Given the description of an element on the screen output the (x, y) to click on. 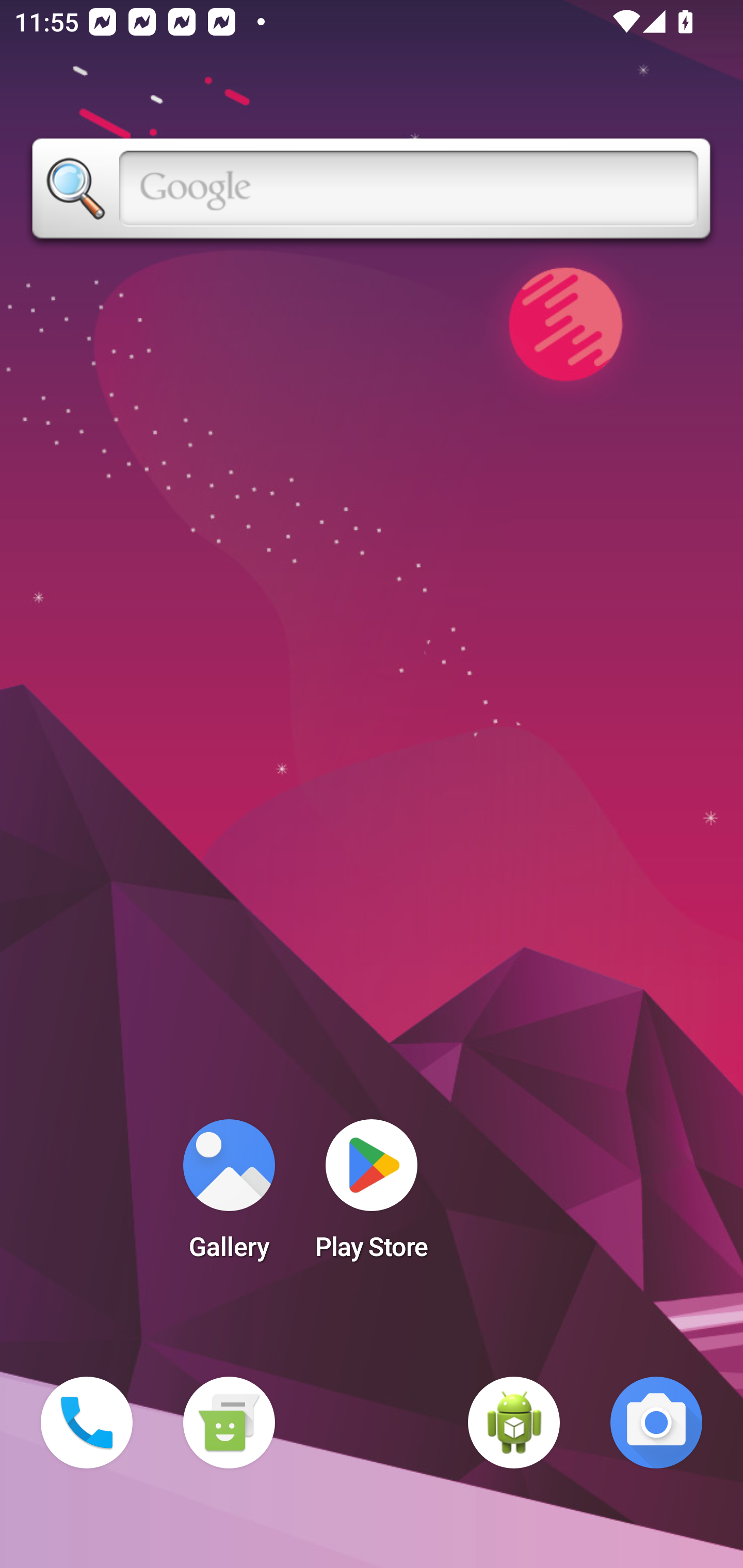
Gallery (228, 1195)
Play Store (371, 1195)
Phone (86, 1422)
Messaging (228, 1422)
WebView Browser Tester (513, 1422)
Camera (656, 1422)
